Given the description of an element on the screen output the (x, y) to click on. 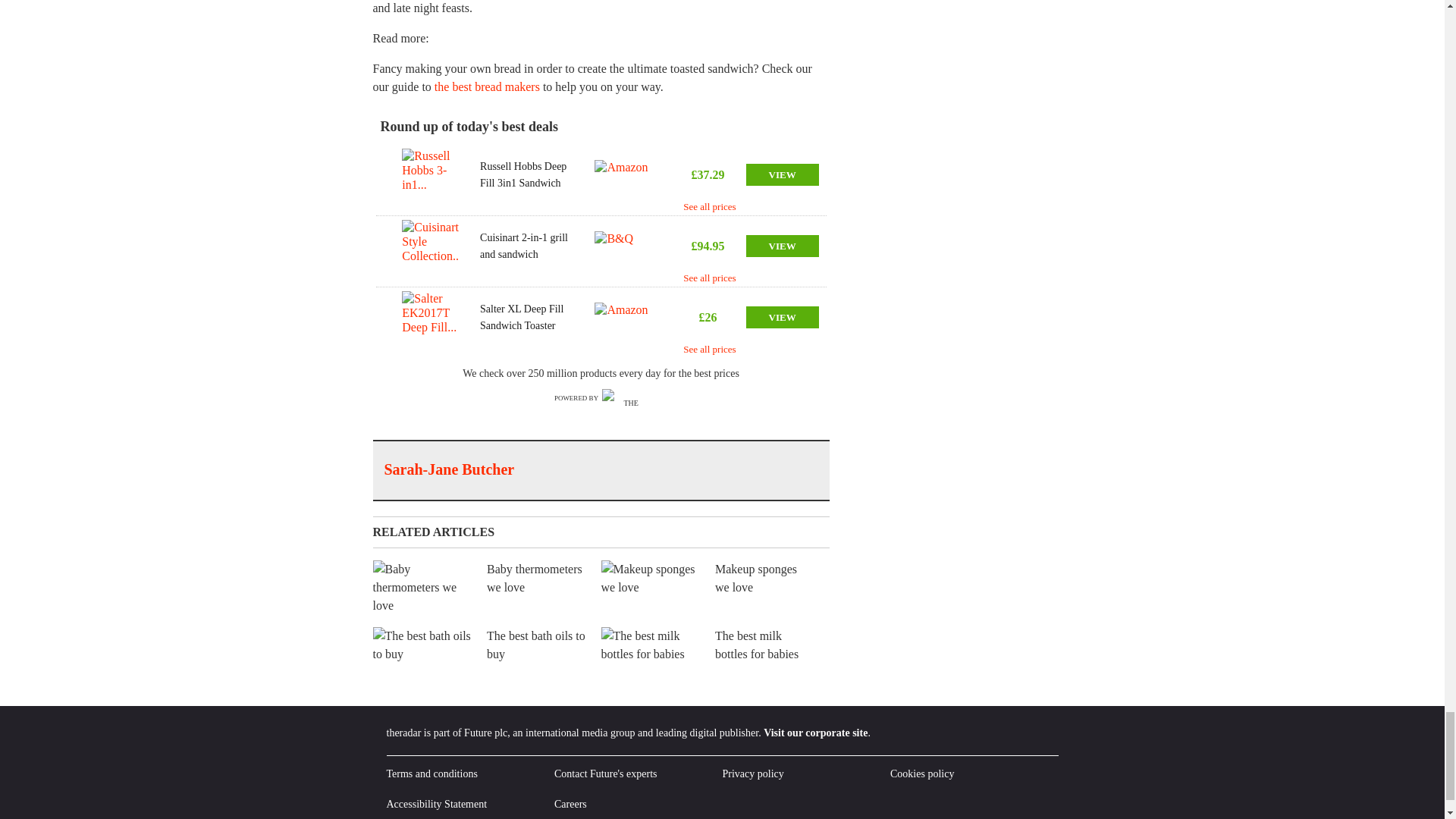
Amazon (624, 317)
Russell Hobbs 3-in1... (431, 174)
The Radar (624, 398)
Cuisinart Style Collection... (431, 246)
Salter EK2017T Deep Fill... (431, 317)
Amazon (624, 174)
